Given the description of an element on the screen output the (x, y) to click on. 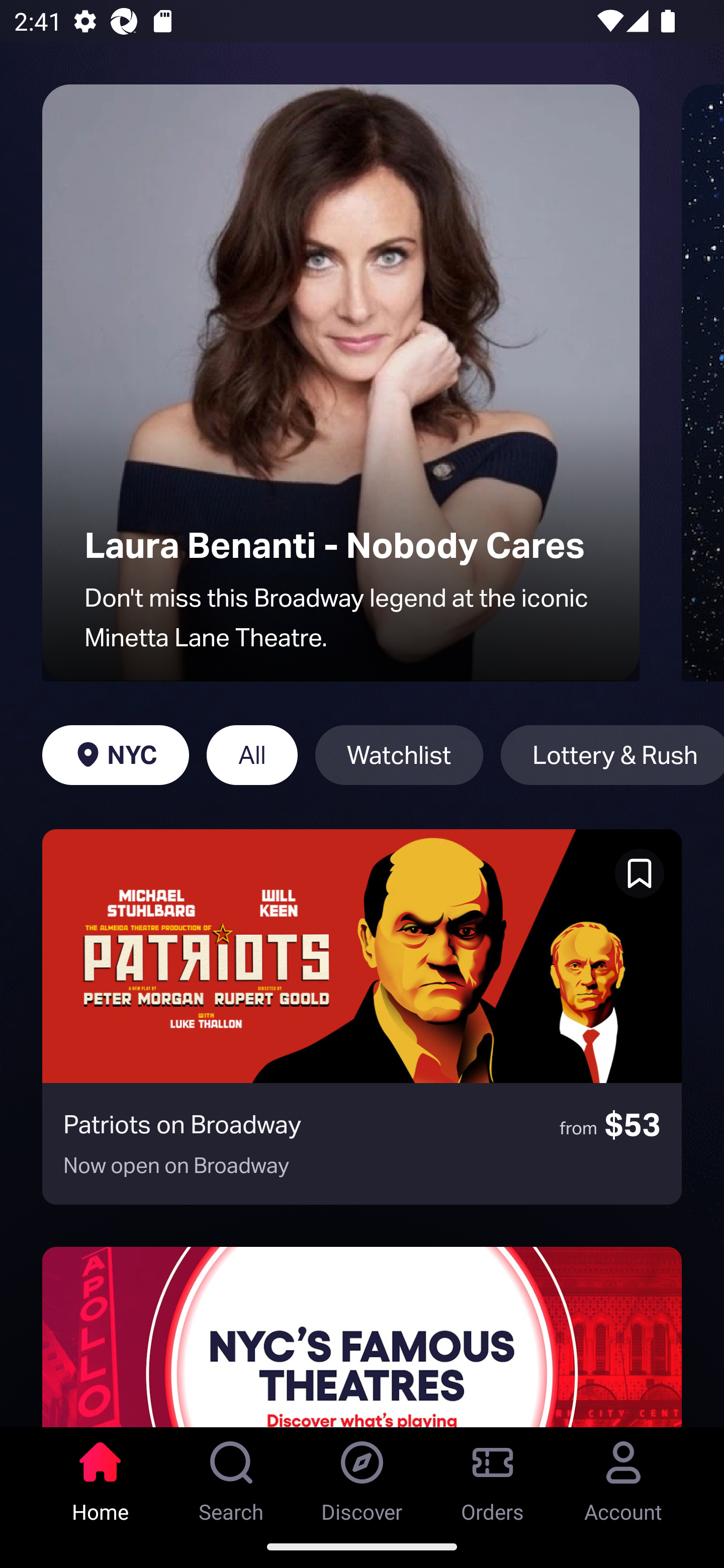
NYC (114, 754)
All (251, 754)
Watchlist (398, 754)
Lottery & Rush (612, 754)
Patriots on Broadway from $53 Now open on Broadway (361, 1016)
Search (230, 1475)
Discover (361, 1475)
Orders (492, 1475)
Account (623, 1475)
